Given the description of an element on the screen output the (x, y) to click on. 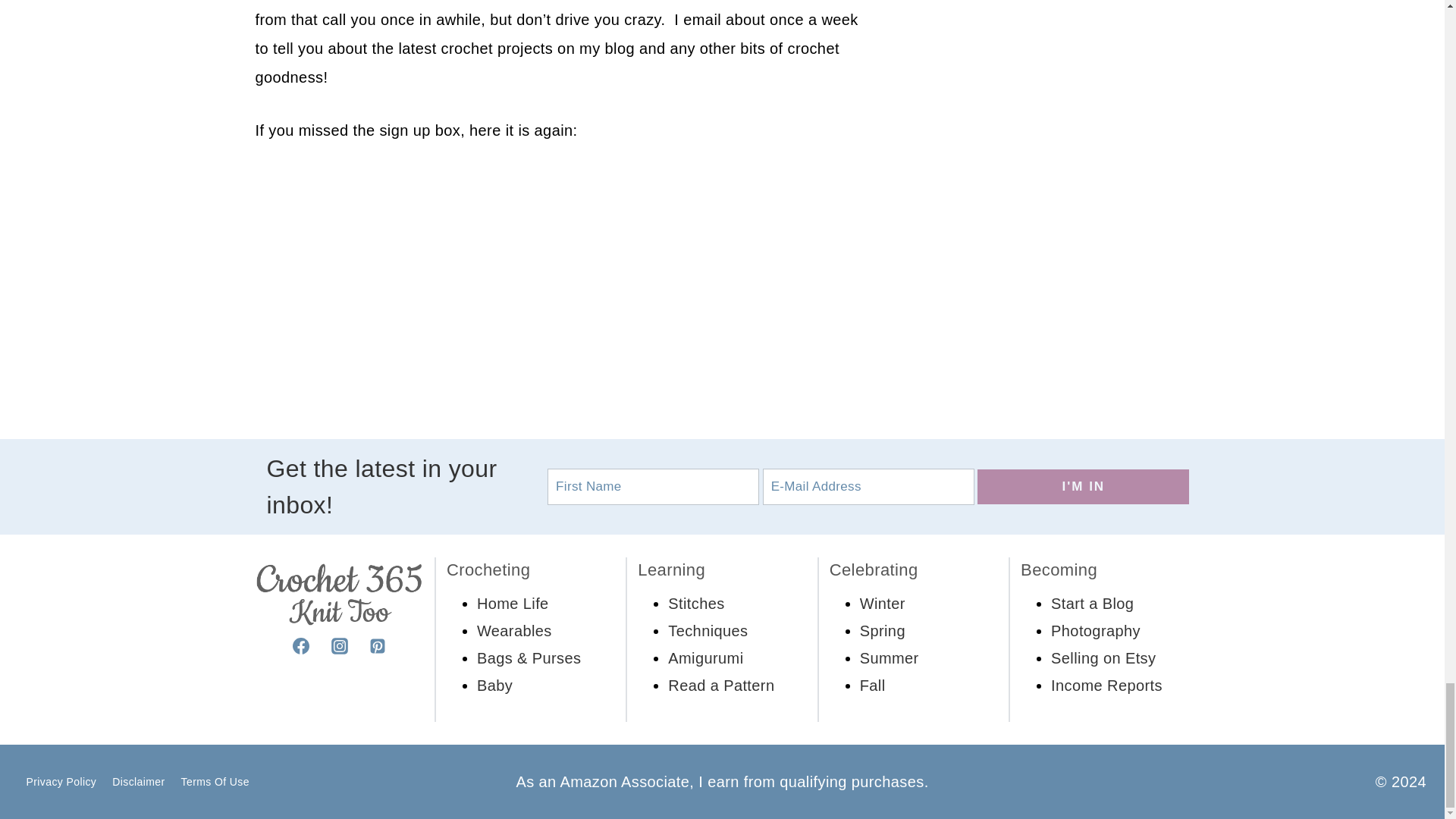
I'm in (1082, 486)
